Given the description of an element on the screen output the (x, y) to click on. 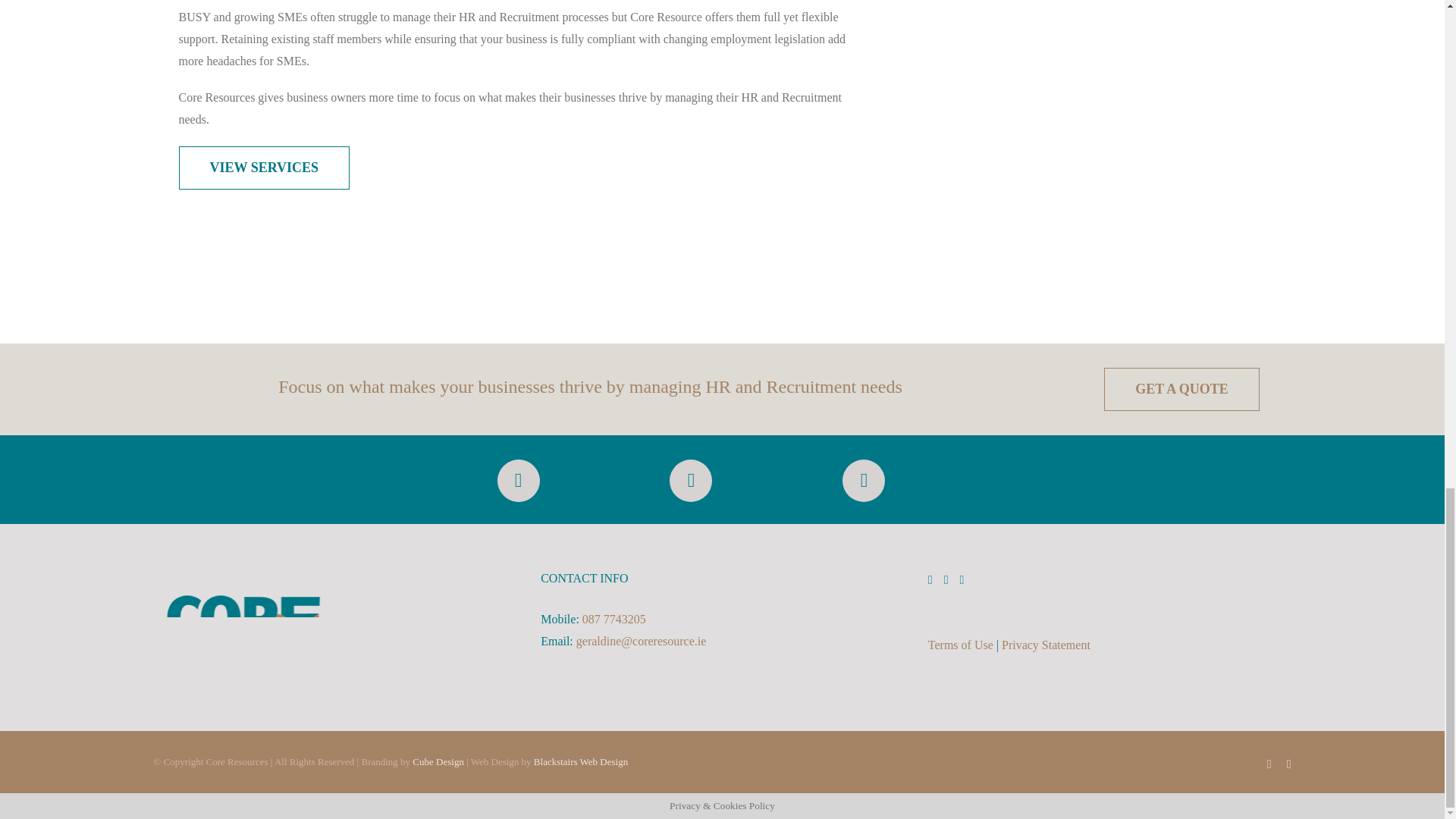
Blackstairs Web Design (580, 761)
Cube Design (438, 761)
Terms of Use (960, 644)
087 7743205 (614, 618)
Privacy Statement (1045, 644)
VIEW SERVICES (264, 167)
GET A QUOTE (1181, 389)
